Given the description of an element on the screen output the (x, y) to click on. 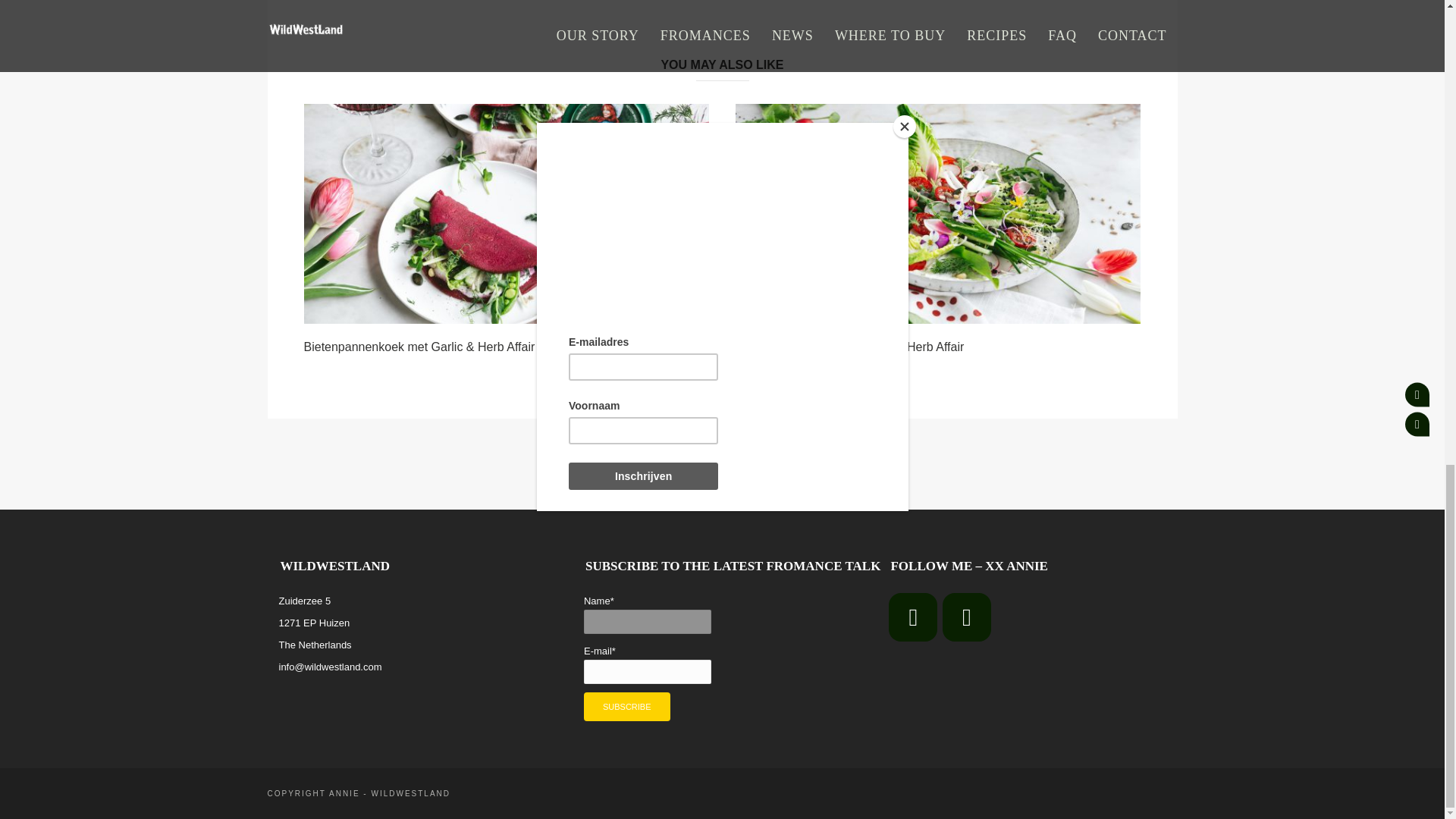
Instagram (966, 616)
Subscribe (626, 706)
Facebook (912, 616)
Subscribe (626, 706)
